Given the description of an element on the screen output the (x, y) to click on. 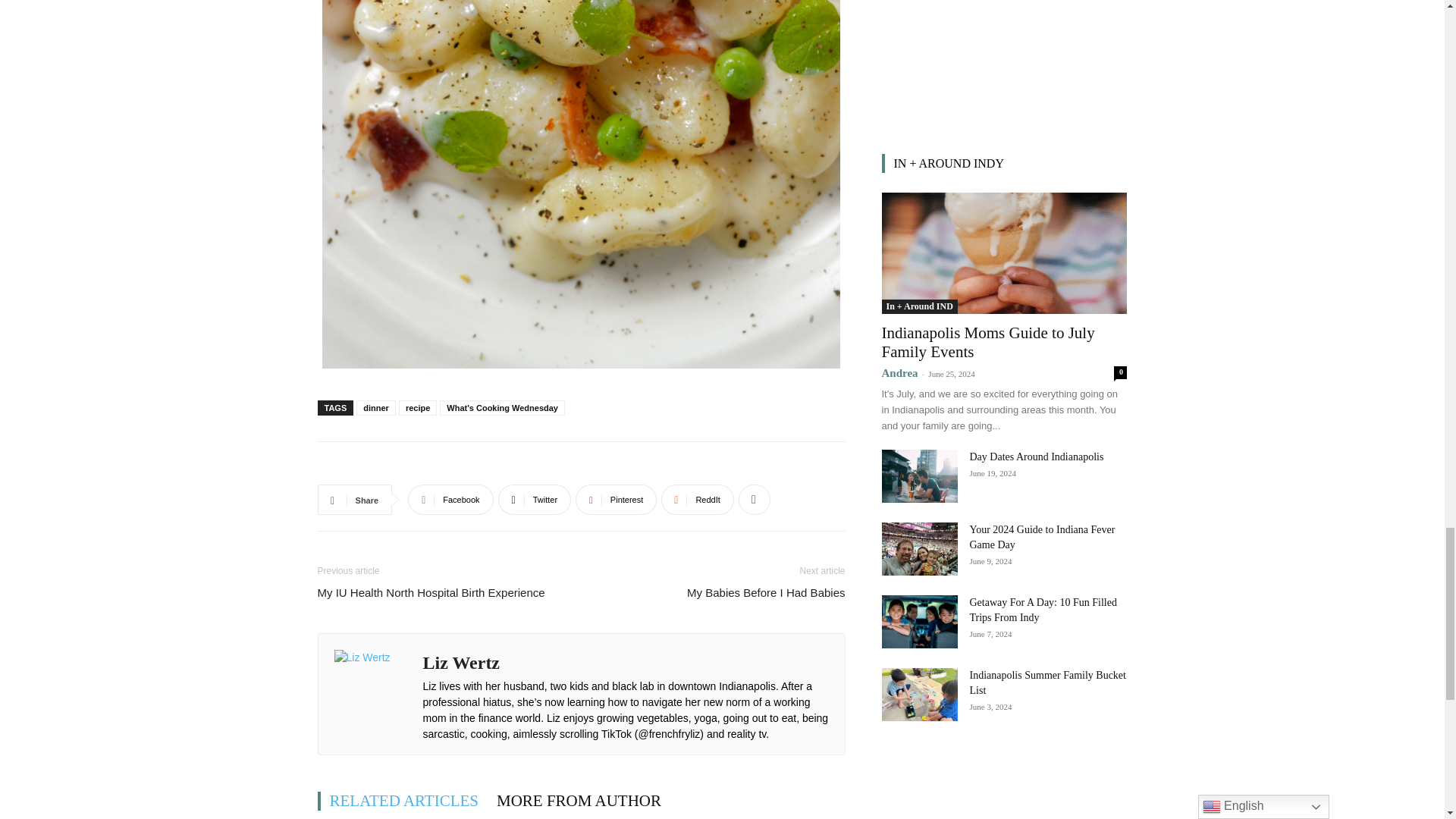
Facebook (450, 499)
bottomFacebookLike (430, 465)
Twitter (534, 499)
